Given the description of an element on the screen output the (x, y) to click on. 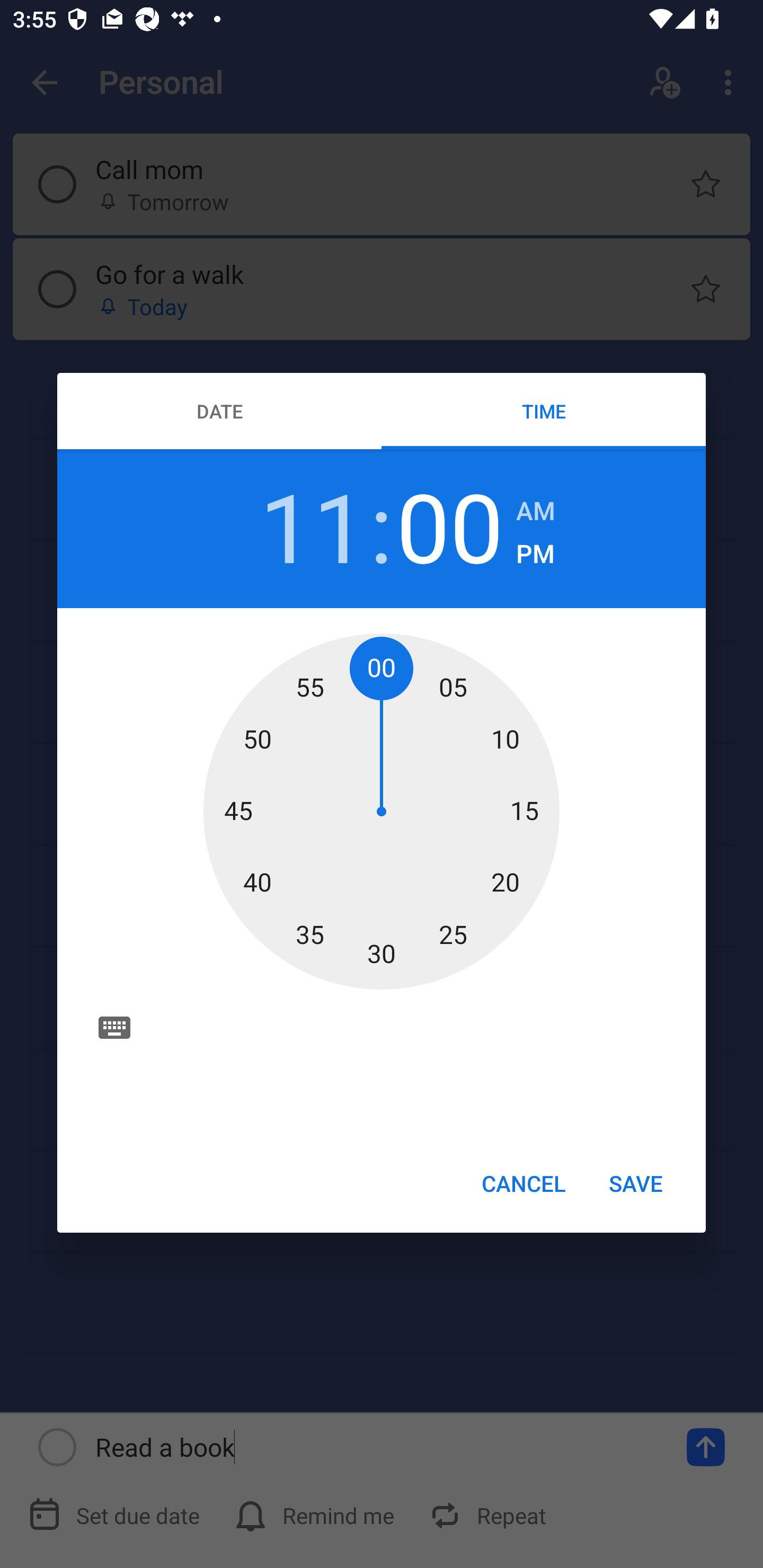
SAVE (635, 1182)
